Given the description of an element on the screen output the (x, y) to click on. 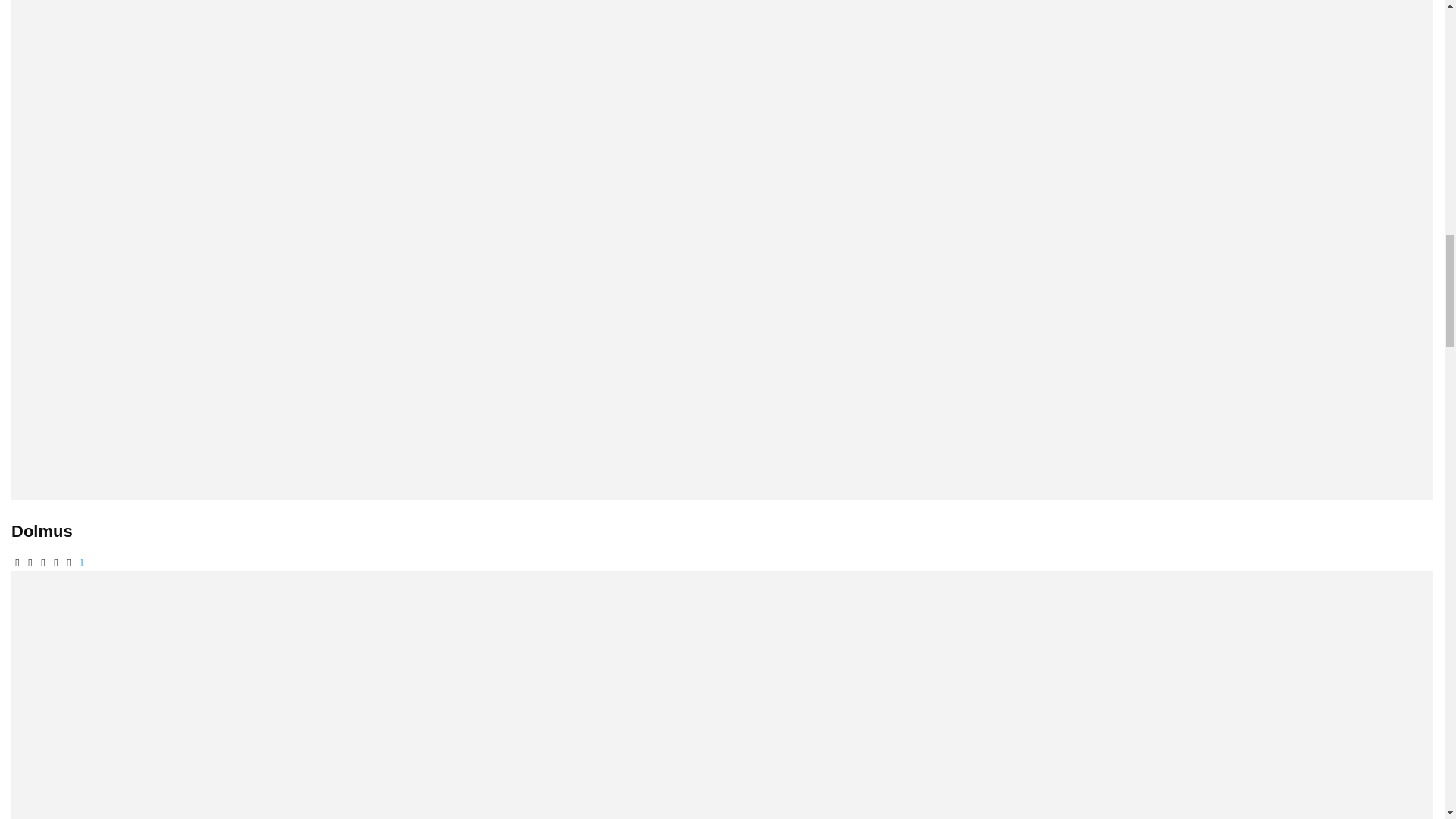
Dolmus (41, 530)
